Given the description of an element on the screen output the (x, y) to click on. 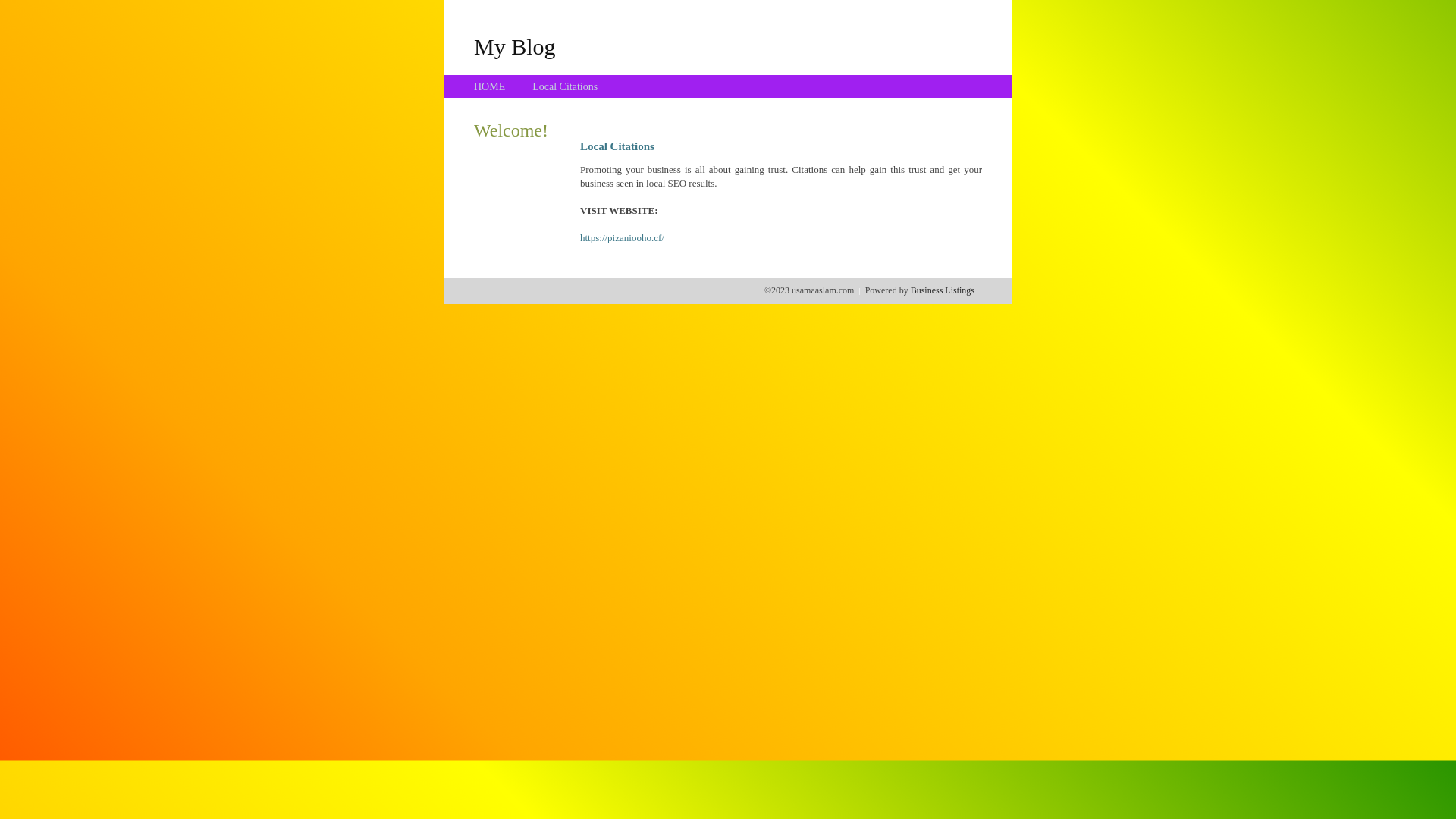
https://pizaniooho.cf/ Element type: text (622, 237)
Business Listings Element type: text (942, 290)
My Blog Element type: text (514, 46)
HOME Element type: text (489, 86)
Local Citations Element type: text (564, 86)
